Given the description of an element on the screen output the (x, y) to click on. 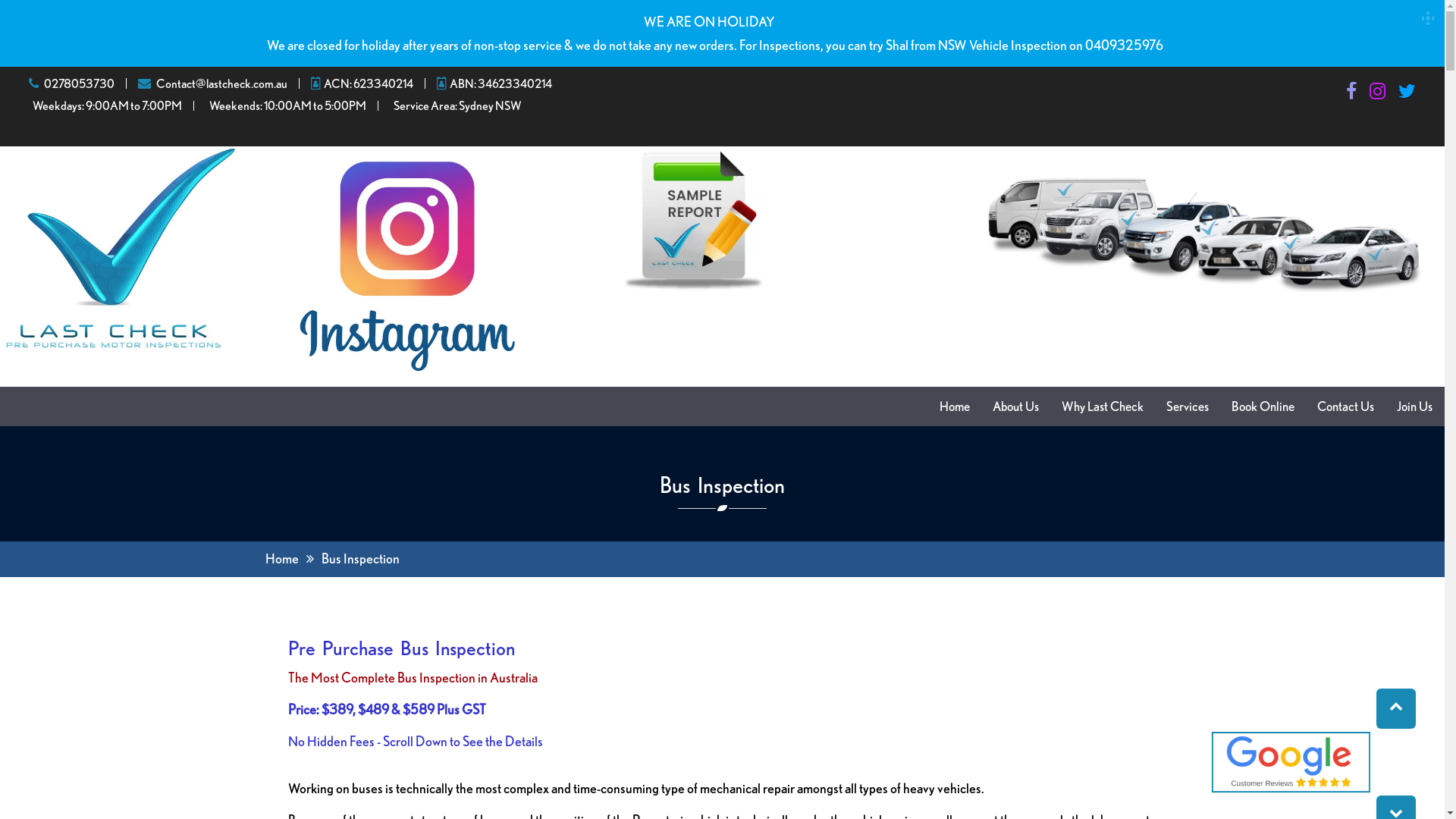
Instagram Element type: hover (1377, 93)
Last Check's Fleet cars Element type: hover (1203, 230)
Why Last Check Element type: text (1102, 406)
0278053730 Element type: text (78, 83)
Join Us Element type: text (1414, 406)
Contact Us Element type: text (1345, 406)
Book Online Element type: text (1262, 406)
last-check-sample-vehicle-inspection-report-icon Element type: hover (692, 219)
Home Element type: text (954, 406)
Last Check Instagram Account Element type: hover (405, 265)
Contact@lastcheck.com.au Element type: text (221, 83)
Facebook Element type: hover (1351, 93)
About Us Element type: text (1015, 406)
Last Check Logo Element type: hover (119, 248)
Services Element type: text (1187, 406)
Home Element type: text (281, 557)
Twitter Element type: hover (1406, 93)
